Given the description of an element on the screen output the (x, y) to click on. 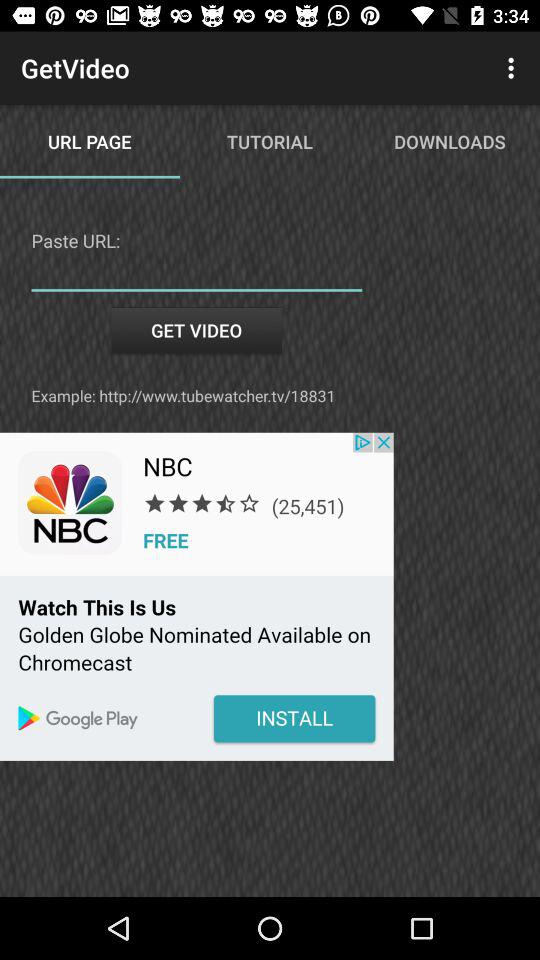
app advertisement (196, 596)
